Given the description of an element on the screen output the (x, y) to click on. 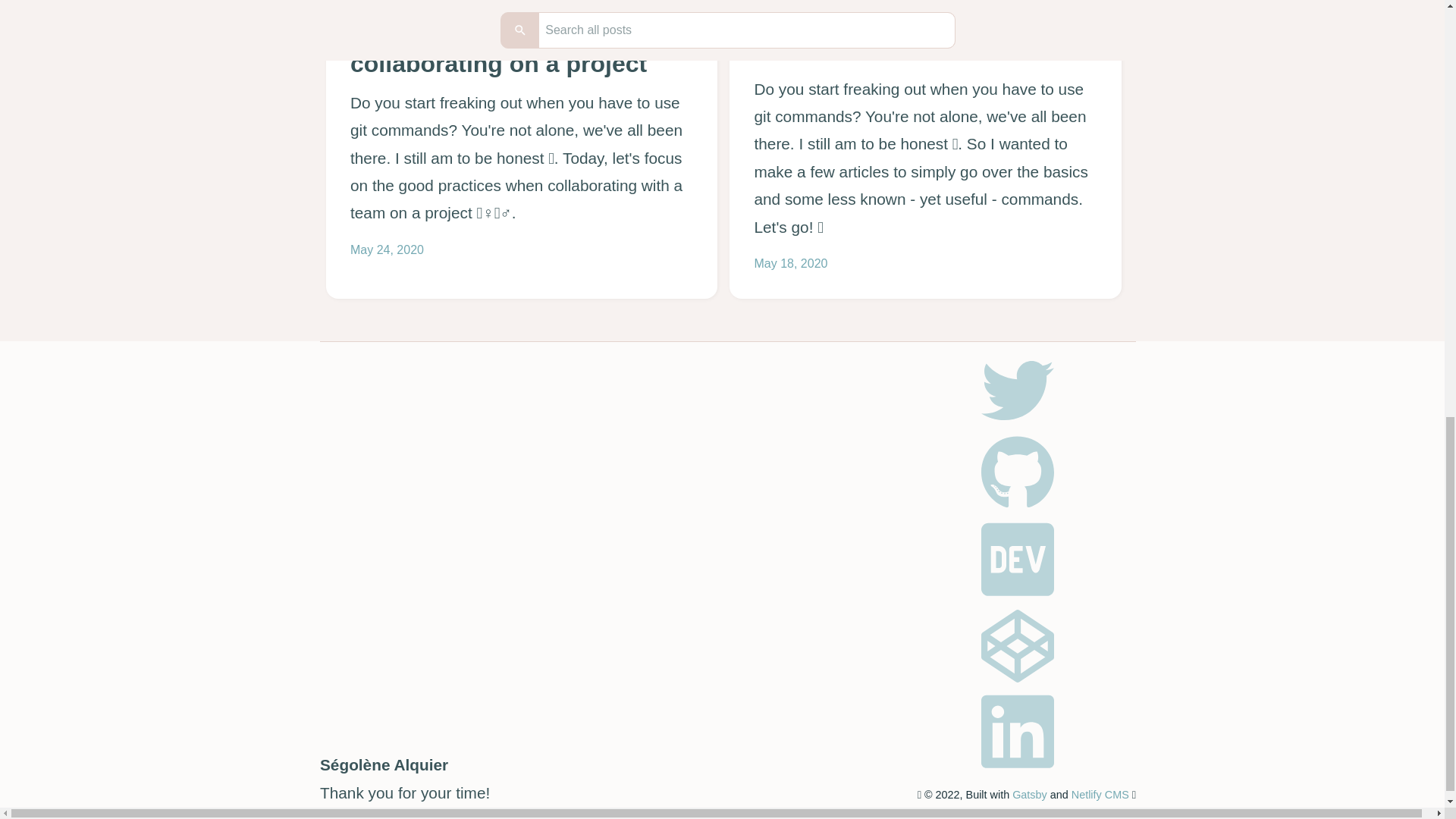
Github profile link (1026, 505)
Dev.to profile link (1017, 559)
Github profile link (1017, 472)
Gatsby (1028, 794)
Netlify CMS (1100, 794)
Codepen profile link (1026, 677)
Codepen profile link (1017, 645)
Linkedin profile link (1026, 768)
Twitter profile link (1017, 389)
Linkedin profile link (1017, 731)
Twitter profile link (1026, 421)
Dev.to profile link (1026, 596)
